Given the description of an element on the screen output the (x, y) to click on. 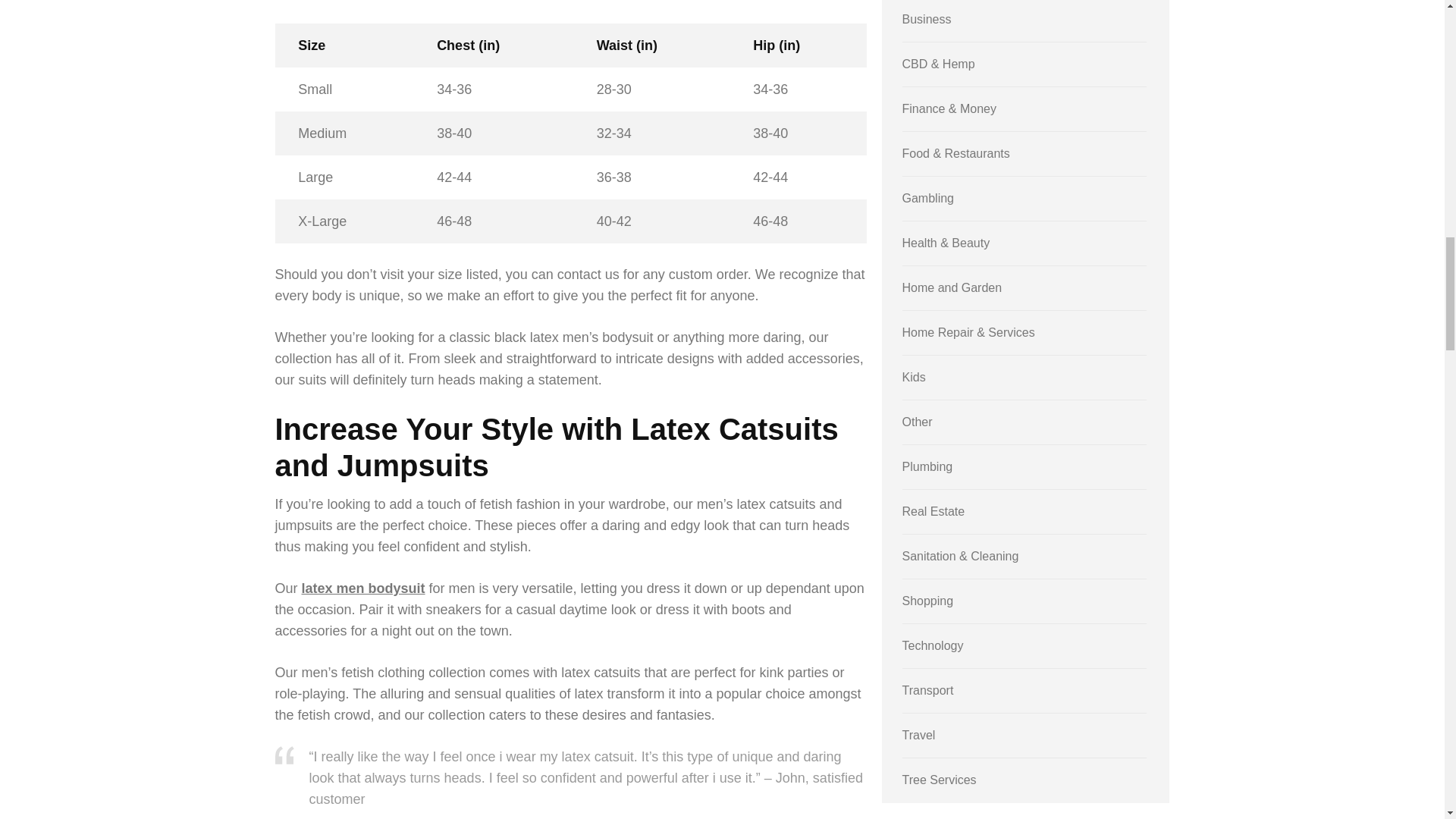
latex men bodysuit (363, 588)
